Given the description of an element on the screen output the (x, y) to click on. 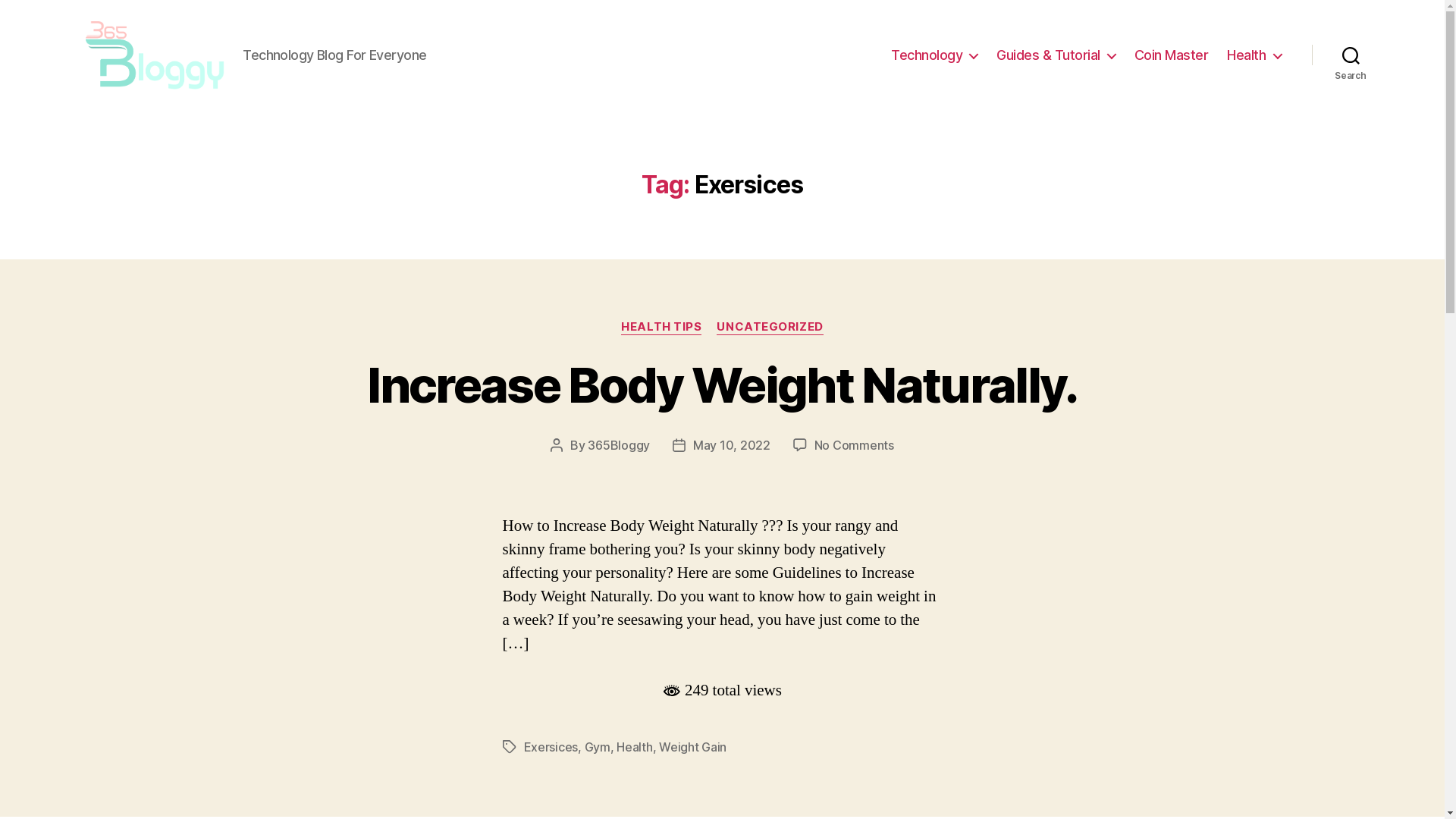
HEALTH TIPS Element type: text (661, 327)
Search Element type: text (1350, 55)
Guides & Tutorial Element type: text (1055, 55)
Gym Element type: text (597, 746)
Technology Element type: text (934, 55)
Increase Body Weight Naturally. Element type: text (722, 384)
Health Element type: text (1253, 55)
Coin Master Element type: text (1171, 55)
Exersices Element type: text (550, 746)
May 10, 2022 Element type: text (731, 444)
No Comments
on Increase Body Weight Naturally. Element type: text (854, 444)
365Bloggy Element type: text (618, 444)
Health Element type: text (634, 746)
UNCATEGORIZED Element type: text (769, 327)
Weight Gain Element type: text (692, 746)
